Given the description of an element on the screen output the (x, y) to click on. 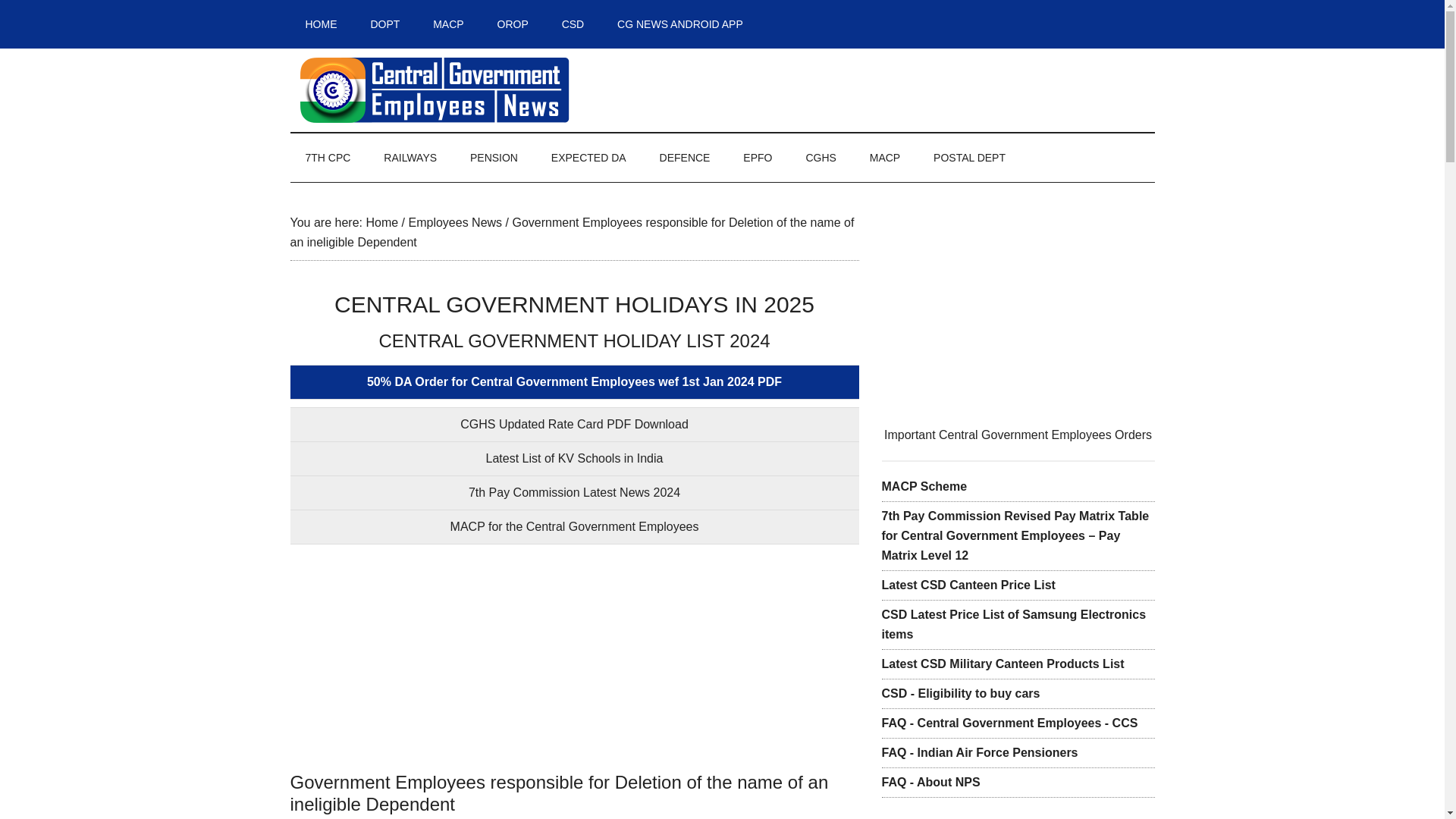
CENTRAL GOVERNMENT EMPLOYEES NEWS (433, 90)
Advertisement (574, 658)
HOME (320, 24)
DEFENCE (685, 157)
Postal Department (969, 157)
Home (381, 222)
CGHS (820, 157)
DOPT Orders (384, 24)
Employees News (454, 222)
RAILWAYS (409, 157)
CSD (573, 24)
7TH CPC (327, 157)
POSTAL DEPT (969, 157)
MACP (884, 157)
